Given the description of an element on the screen output the (x, y) to click on. 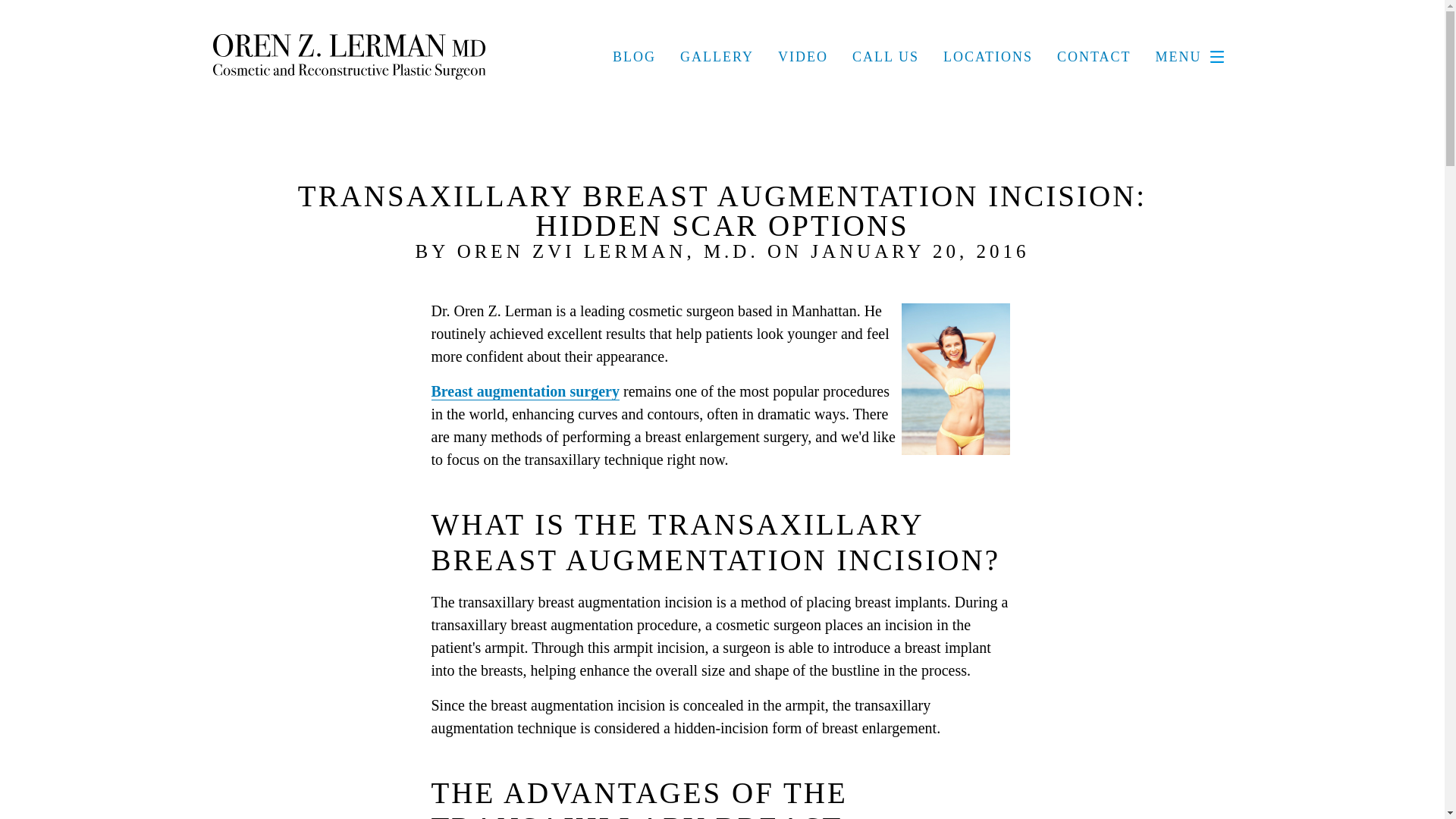
CONTACT (1094, 56)
MENU (1193, 56)
BLOG (634, 56)
Breast augmentation surgery (525, 391)
CALL US (884, 56)
LOCATIONS (987, 56)
GALLERY (716, 56)
VIDEO (802, 56)
